Given the description of an element on the screen output the (x, y) to click on. 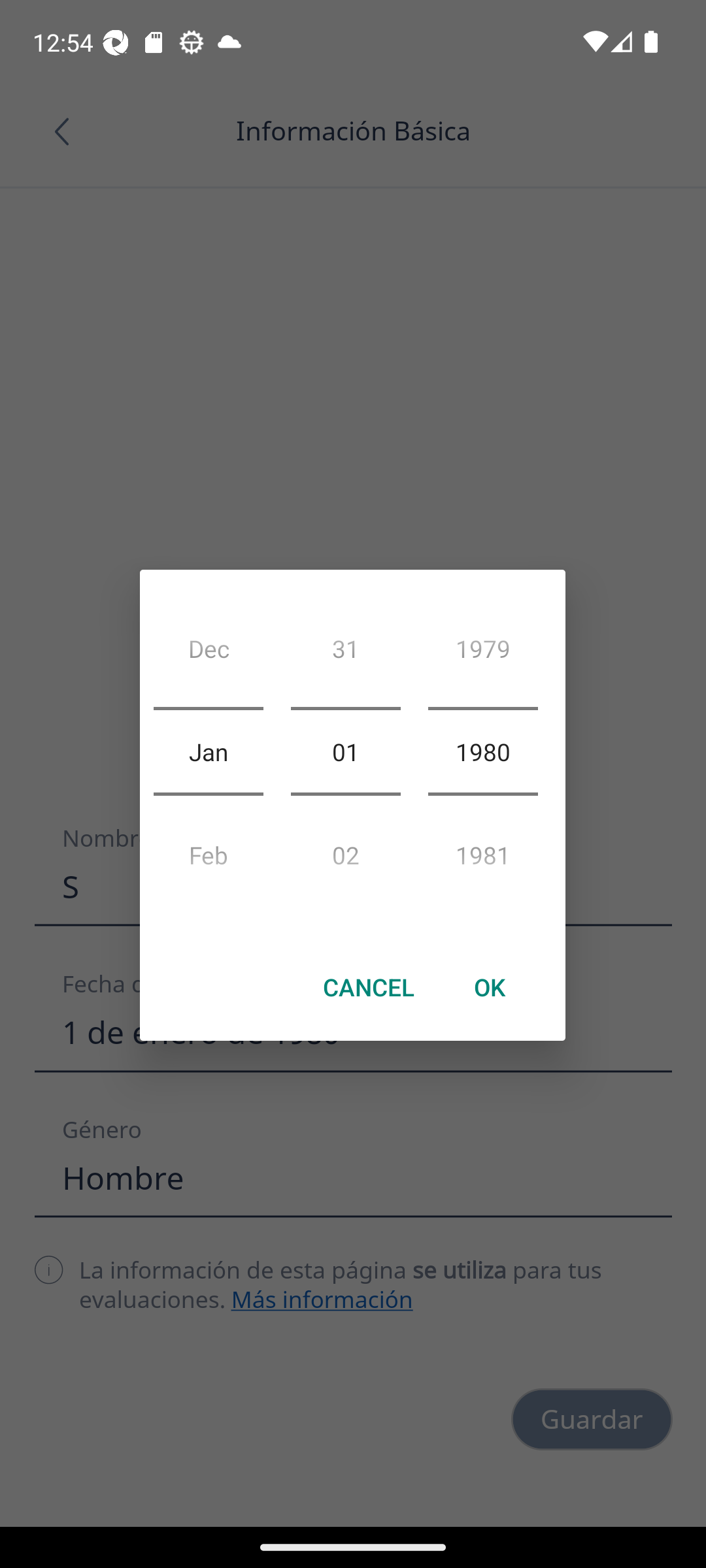
Dec (208, 653)
31 (345, 653)
1979 (482, 653)
Jan (208, 750)
01 (345, 750)
1980 (482, 750)
Feb (208, 848)
02 (345, 848)
1981 (482, 848)
CANCEL (368, 986)
OK (489, 986)
